Given the description of an element on the screen output the (x, y) to click on. 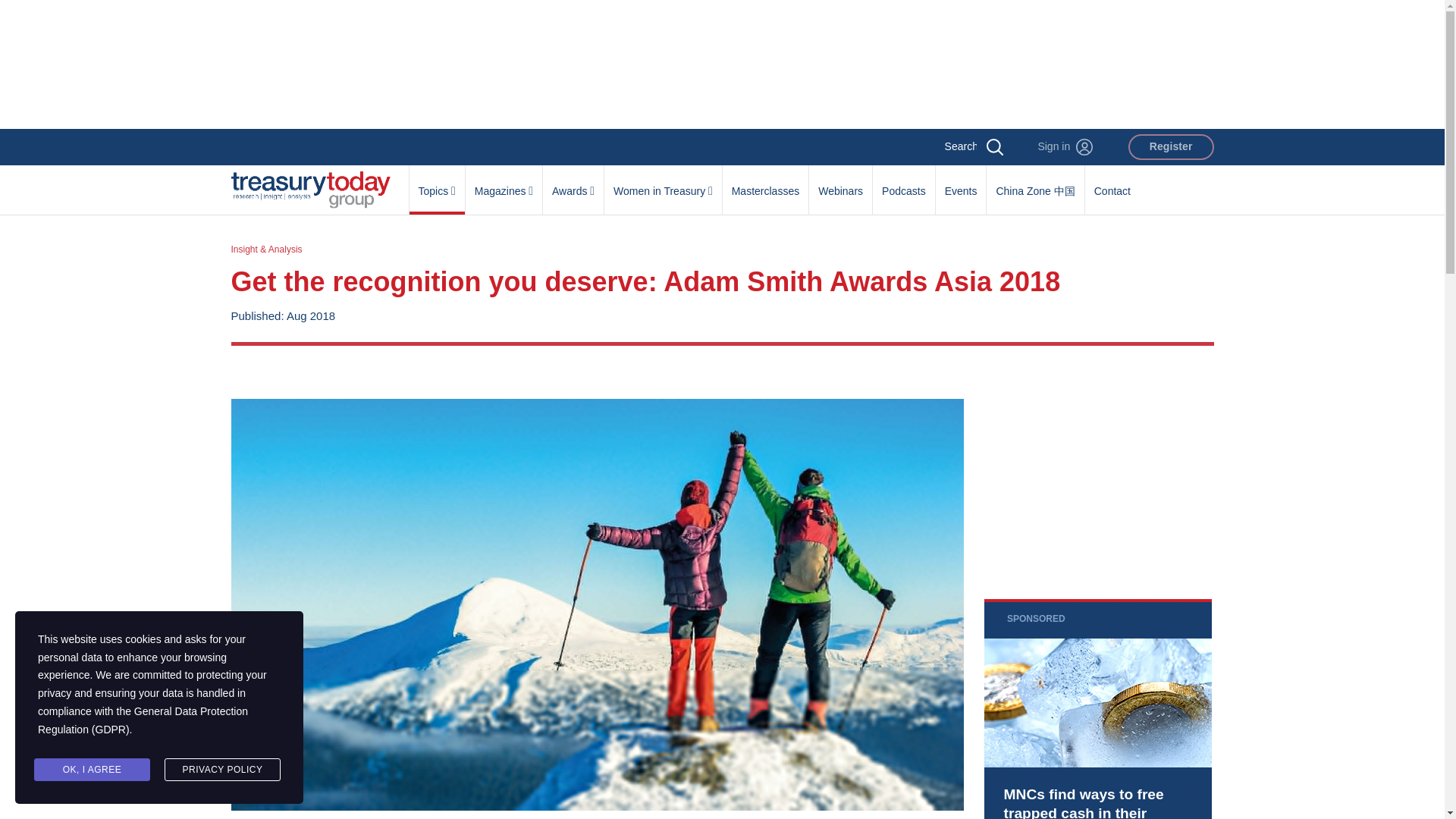
3rd party ad content (1097, 708)
Webinars (840, 182)
Women in Treasury  (663, 182)
Sign in (1064, 146)
Topics  (436, 182)
Masterclasses (765, 182)
Awards  (573, 182)
Register (1171, 146)
3rd party ad content (1097, 471)
Magazines  (503, 182)
3rd party ad content (721, 63)
